Given the description of an element on the screen output the (x, y) to click on. 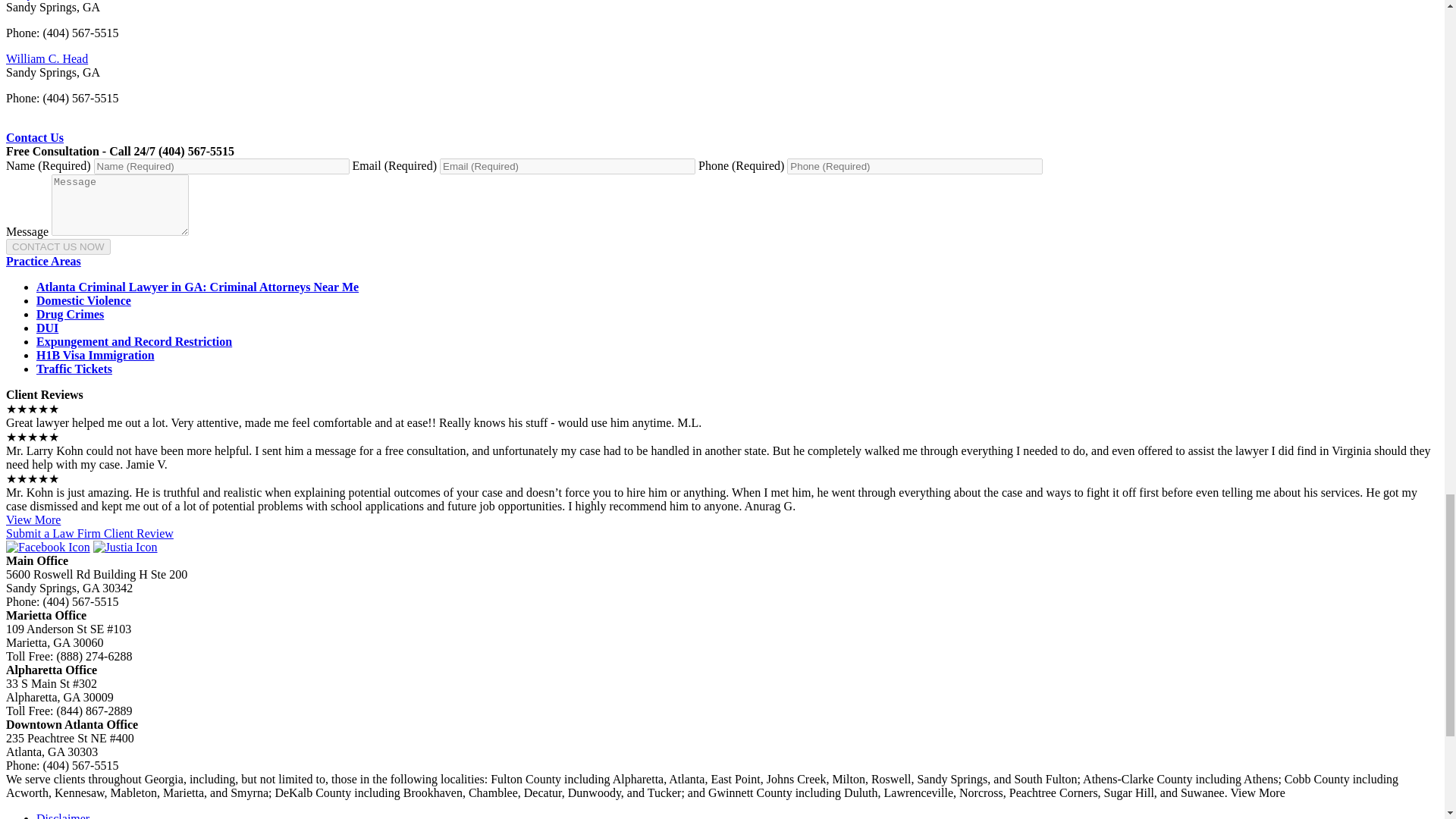
Justia (125, 546)
Read Full Bio (46, 58)
William C. Head (46, 58)
Facebook (47, 546)
